Given the description of an element on the screen output the (x, y) to click on. 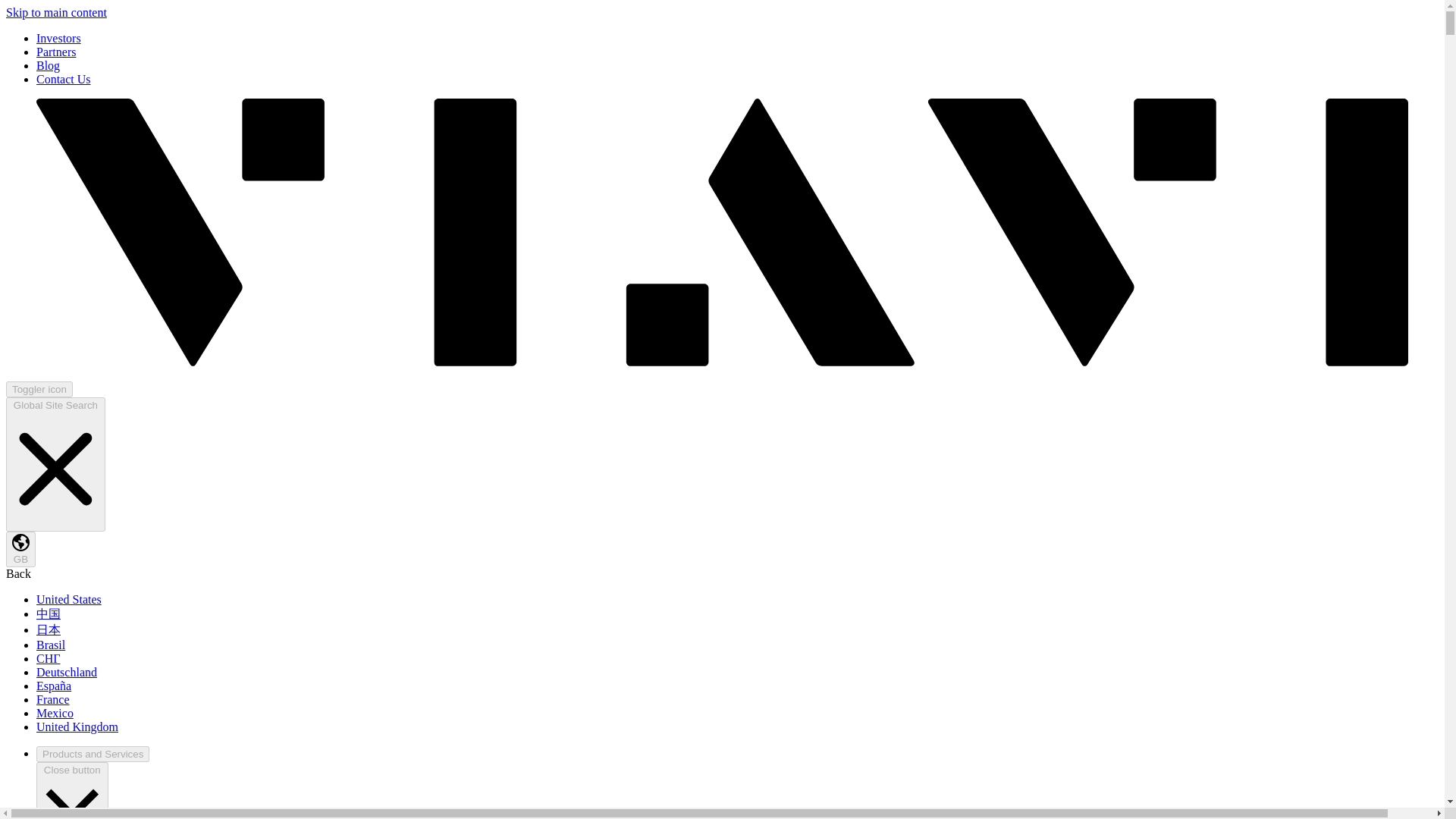
Contact Us (63, 78)
Mexico (55, 712)
Deutschland (66, 671)
Skip to main content (55, 11)
GB (19, 549)
Global Site Search (54, 464)
Blog (47, 65)
Close button (71, 790)
Investors (58, 38)
Brasil (50, 644)
Toggler icon (38, 389)
Products and Services (92, 754)
France (52, 698)
United States (68, 599)
